Given the description of an element on the screen output the (x, y) to click on. 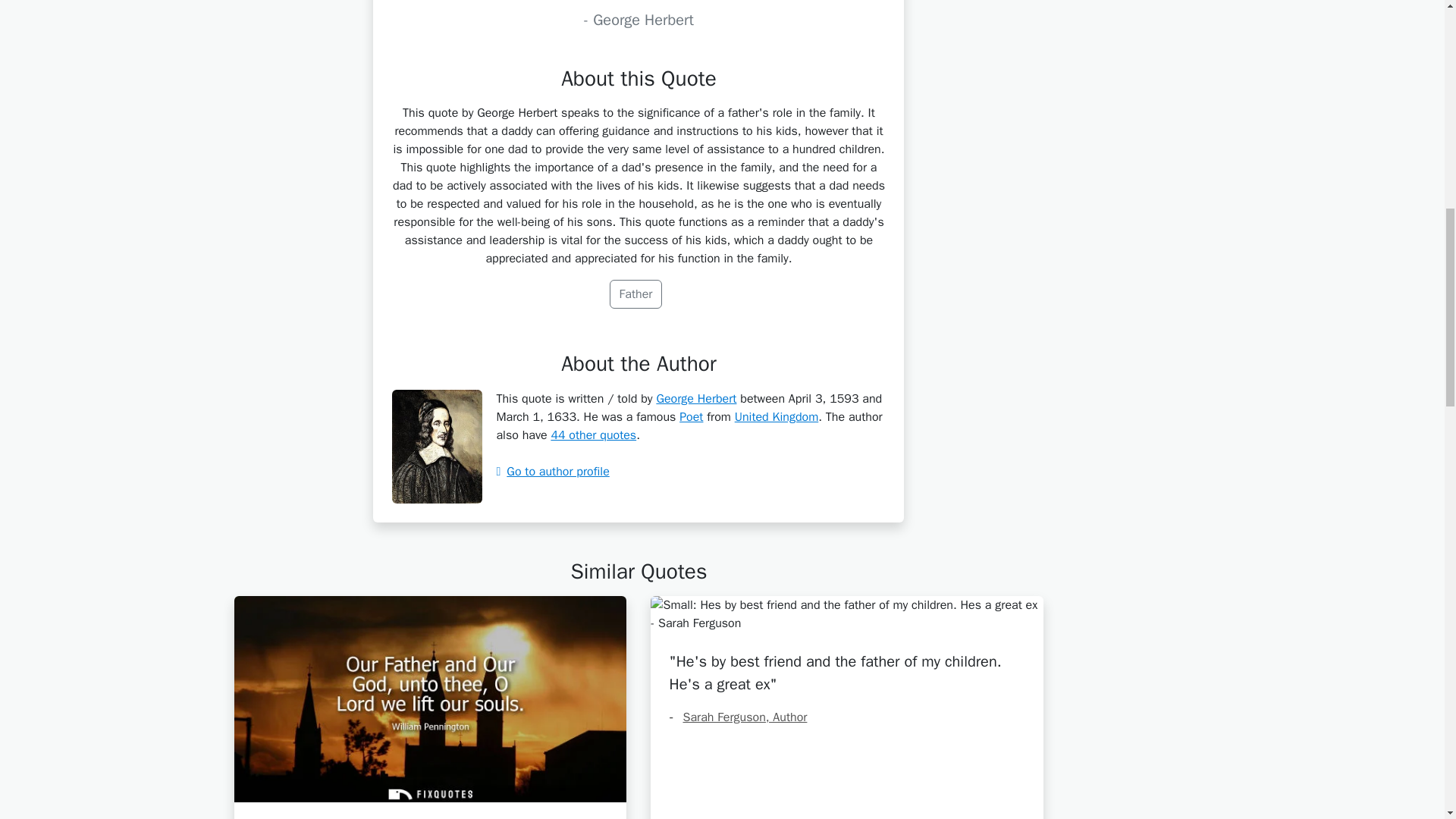
George Herbert (696, 398)
United Kingdom (776, 417)
Poet (691, 417)
Father (636, 294)
44 other quotes (593, 435)
Sarah Ferguson, Author (737, 717)
Go to author profile (552, 471)
